Given the description of an element on the screen output the (x, y) to click on. 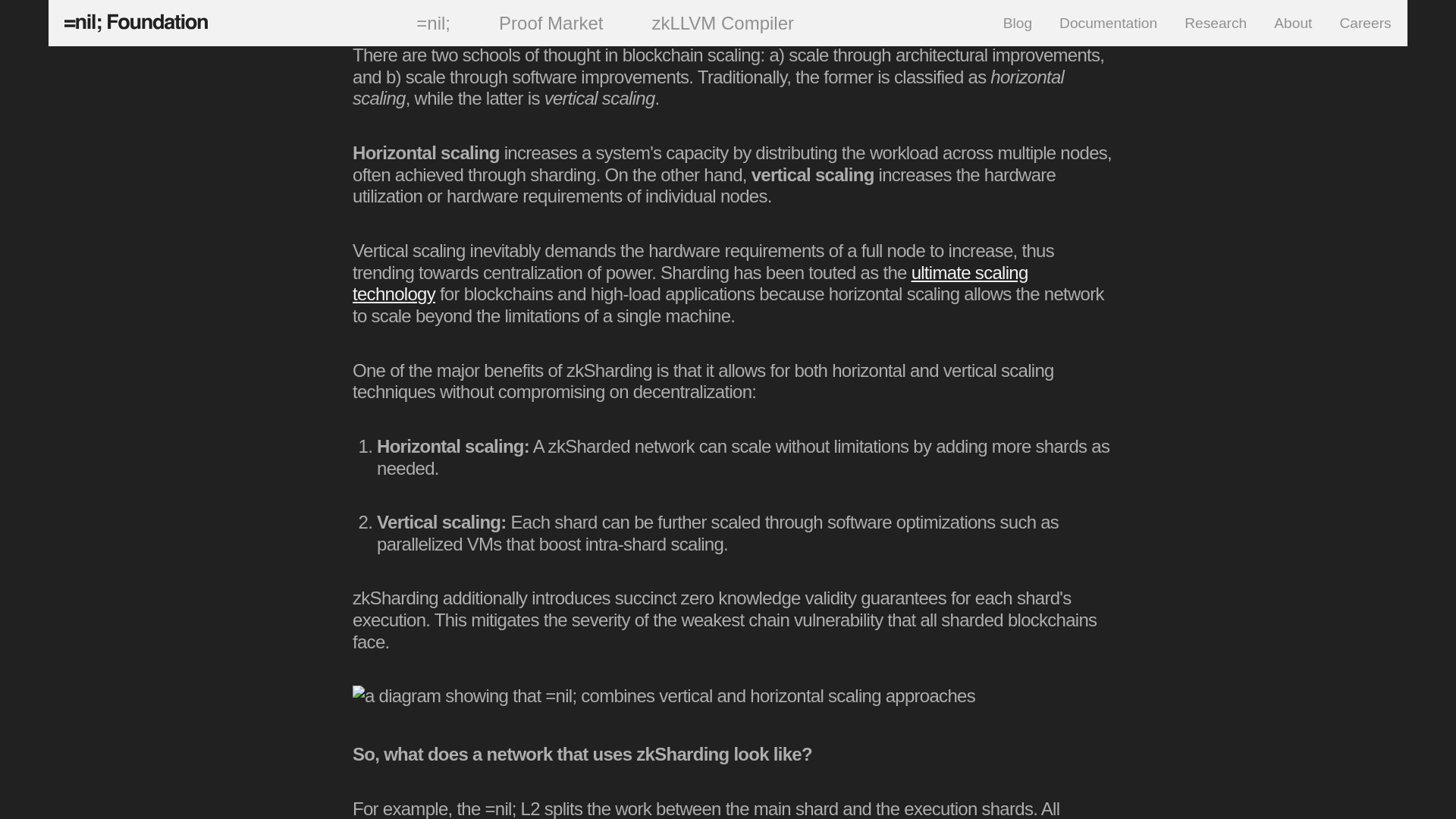
ultimate scaling technology (689, 283)
